Given the description of an element on the screen output the (x, y) to click on. 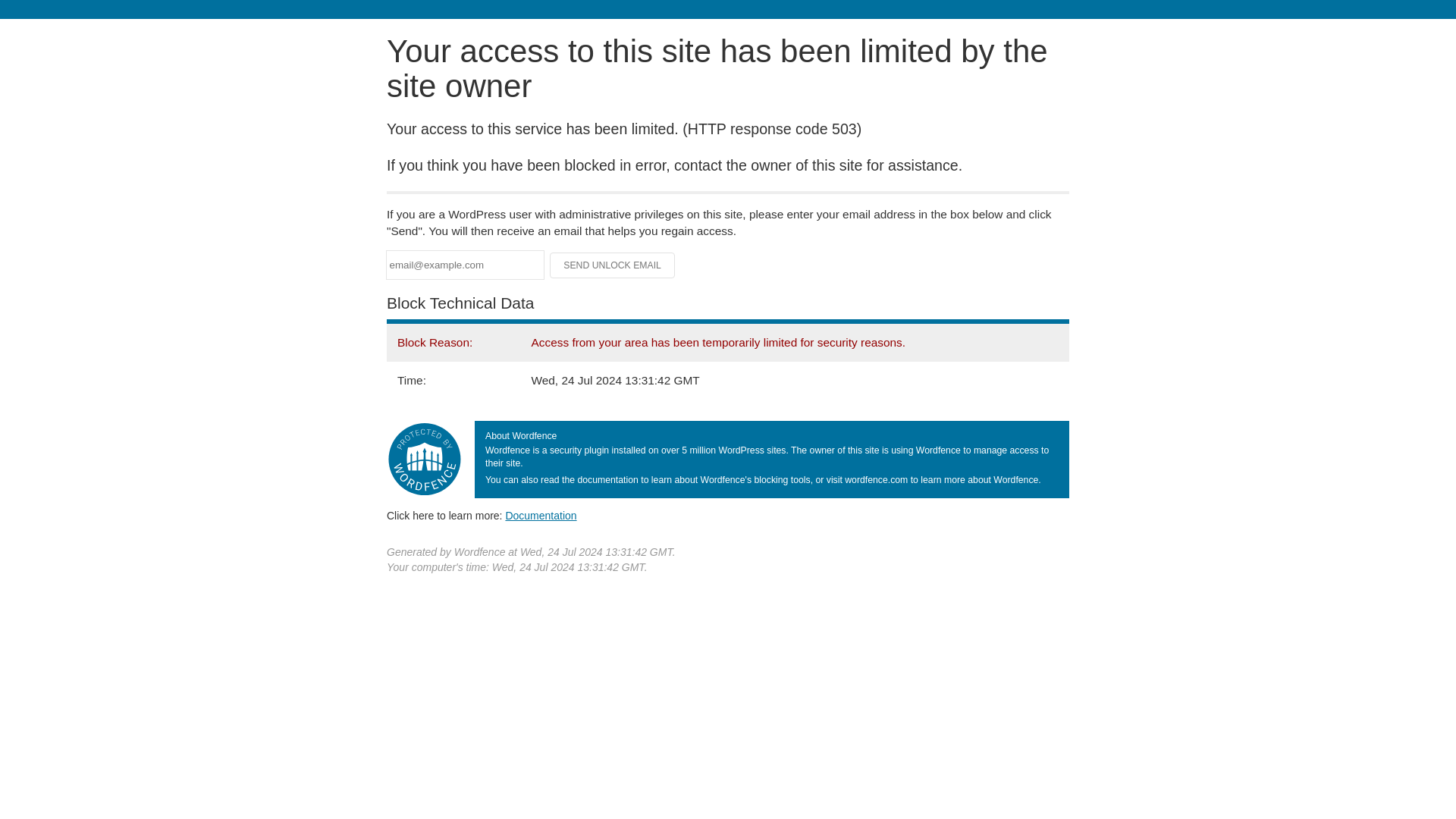
Documentation (540, 515)
Send Unlock Email (612, 265)
Send Unlock Email (612, 265)
